Given the description of an element on the screen output the (x, y) to click on. 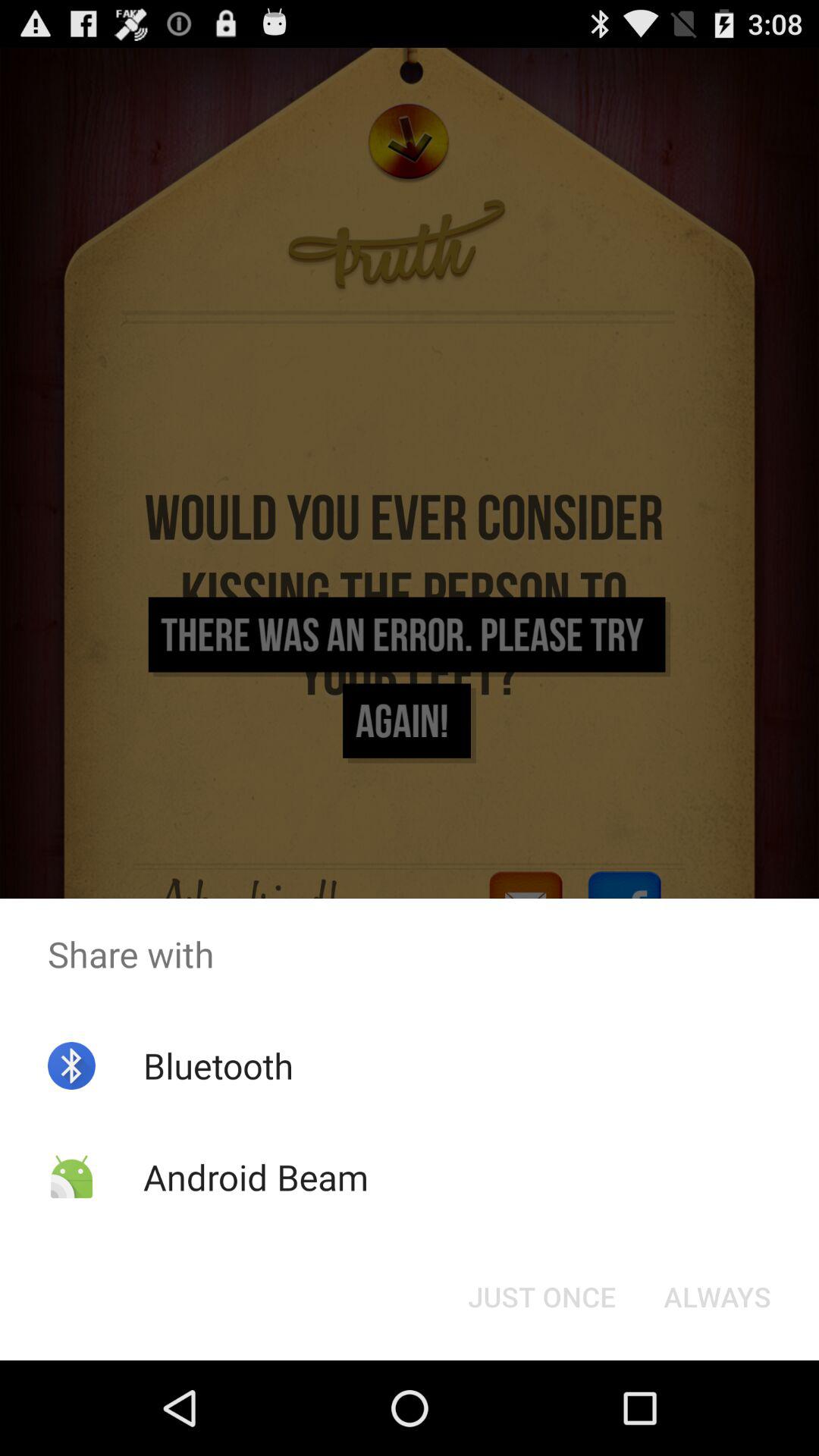
turn on the item below the share with icon (541, 1296)
